Given the description of an element on the screen output the (x, y) to click on. 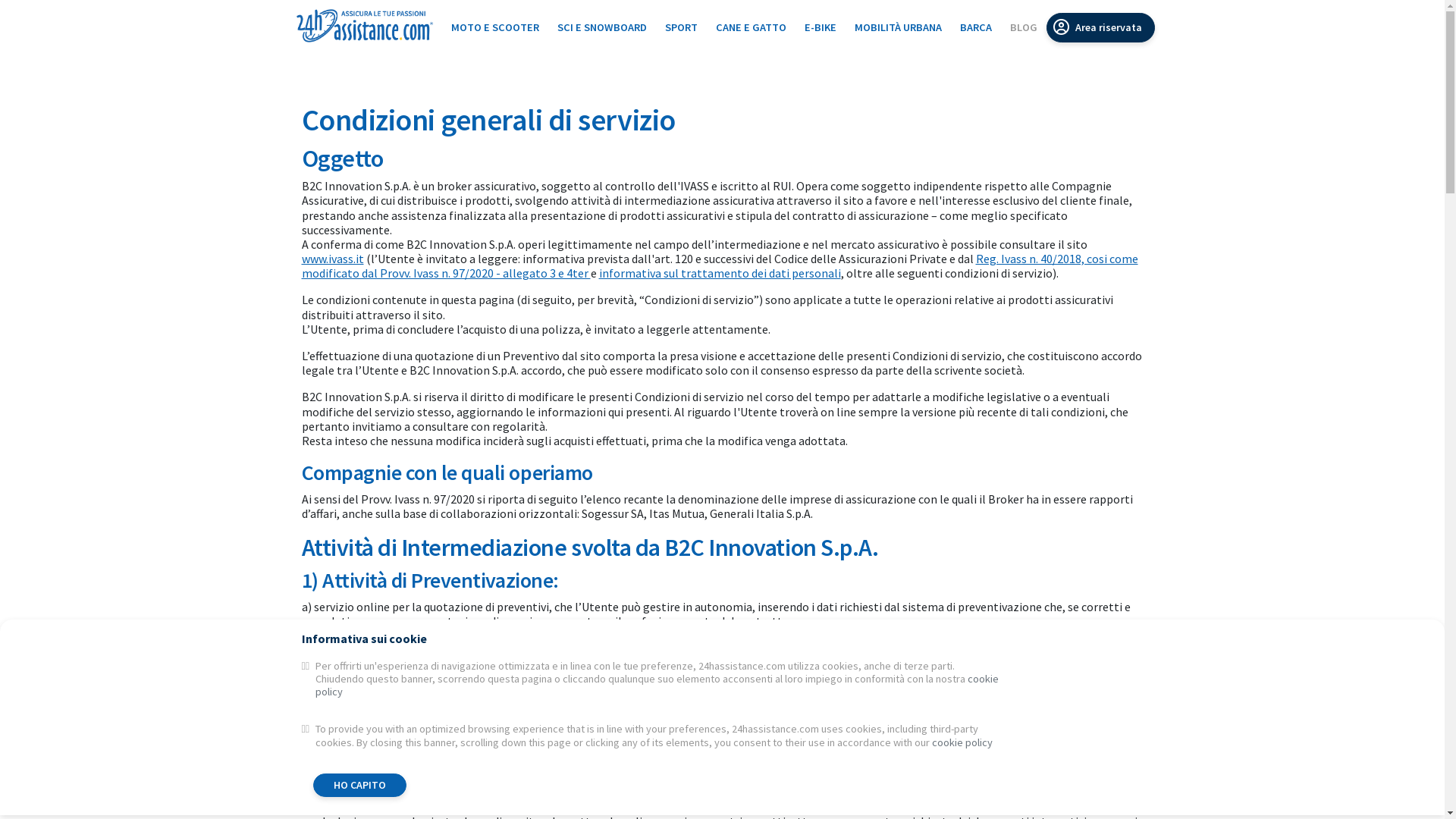
Area riservata Element type: text (1100, 27)
www.ivass.it Element type: text (332, 258)
SPORT Element type: text (680, 27)
BLOG Element type: text (1023, 27)
cookie policy Element type: text (656, 684)
SCI E SNOWBOARD Element type: text (601, 27)
E-BIKE Element type: text (819, 27)
BARCA Element type: text (975, 27)
cookie policy Element type: text (961, 742)
informativa sul trattamento dei dati personali Element type: text (719, 272)
HO CAPITO Element type: text (358, 785)
CANE E GATTO Element type: text (750, 27)
MOTO E SCOOTER Element type: text (494, 27)
